Given the description of an element on the screen output the (x, y) to click on. 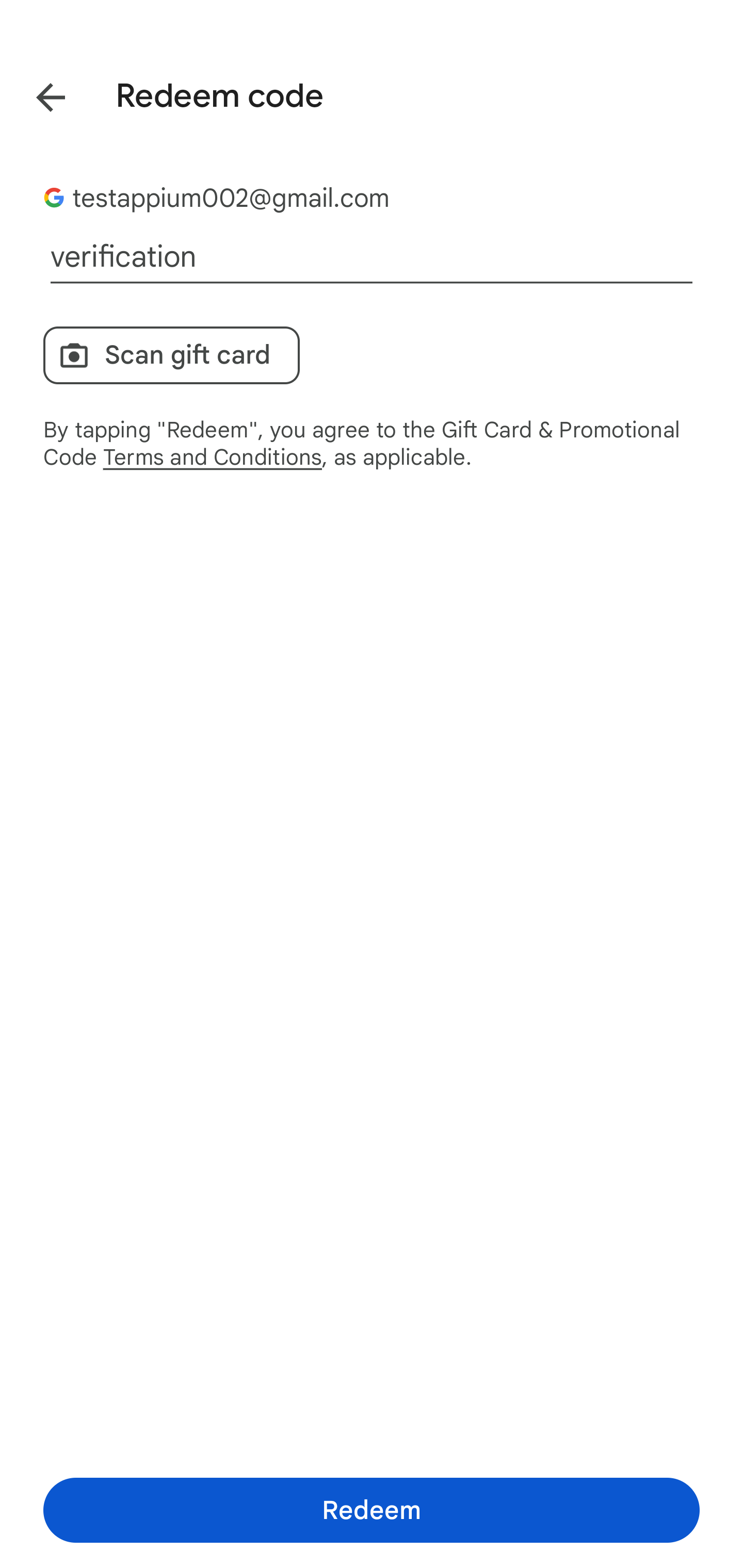
Back (36, 94)
verification (371, 256)
Scan gift card (171, 355)
Redeem (371, 1509)
